Given the description of an element on the screen output the (x, y) to click on. 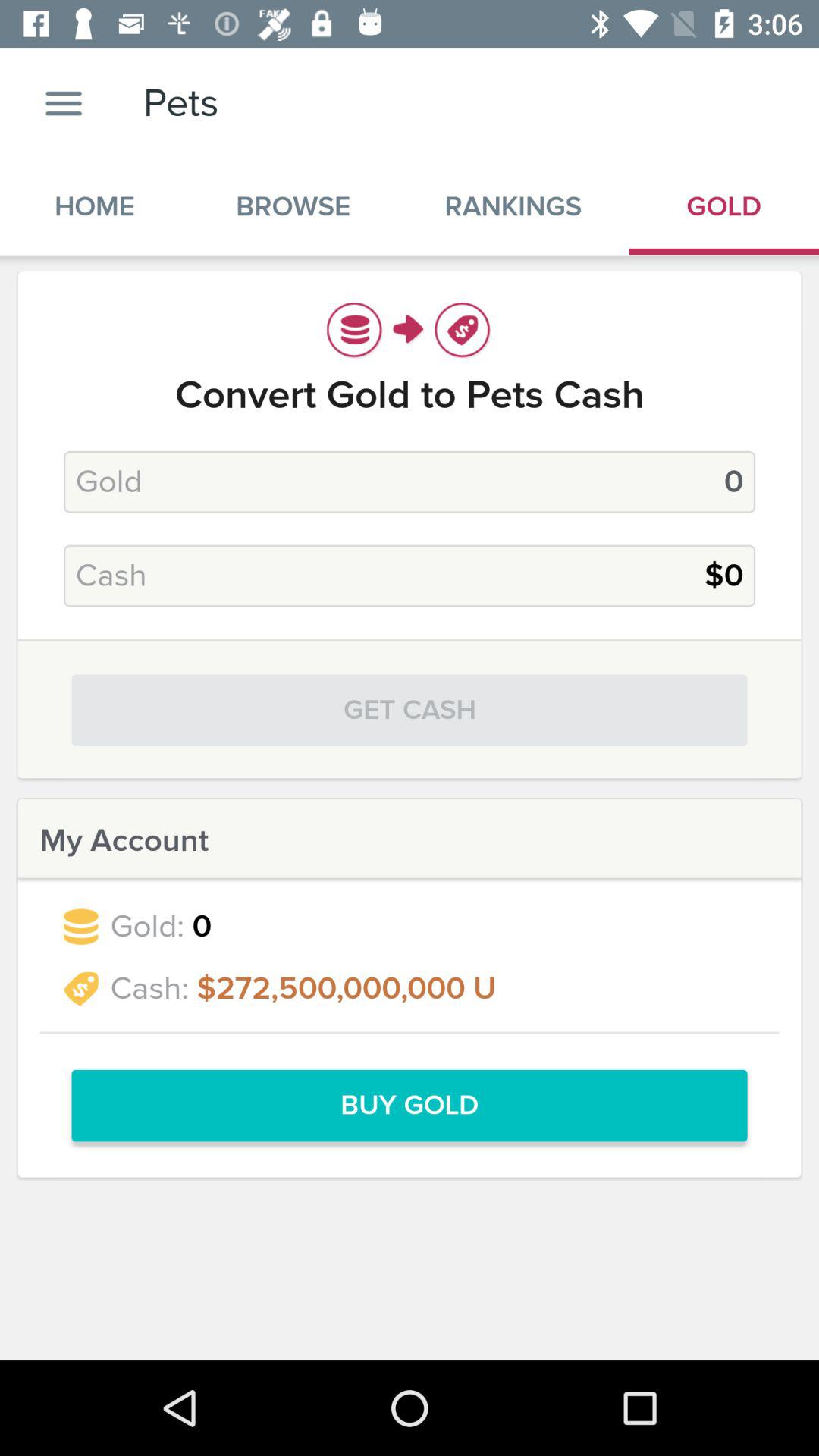
flip to get cash item (409, 710)
